Given the description of an element on the screen output the (x, y) to click on. 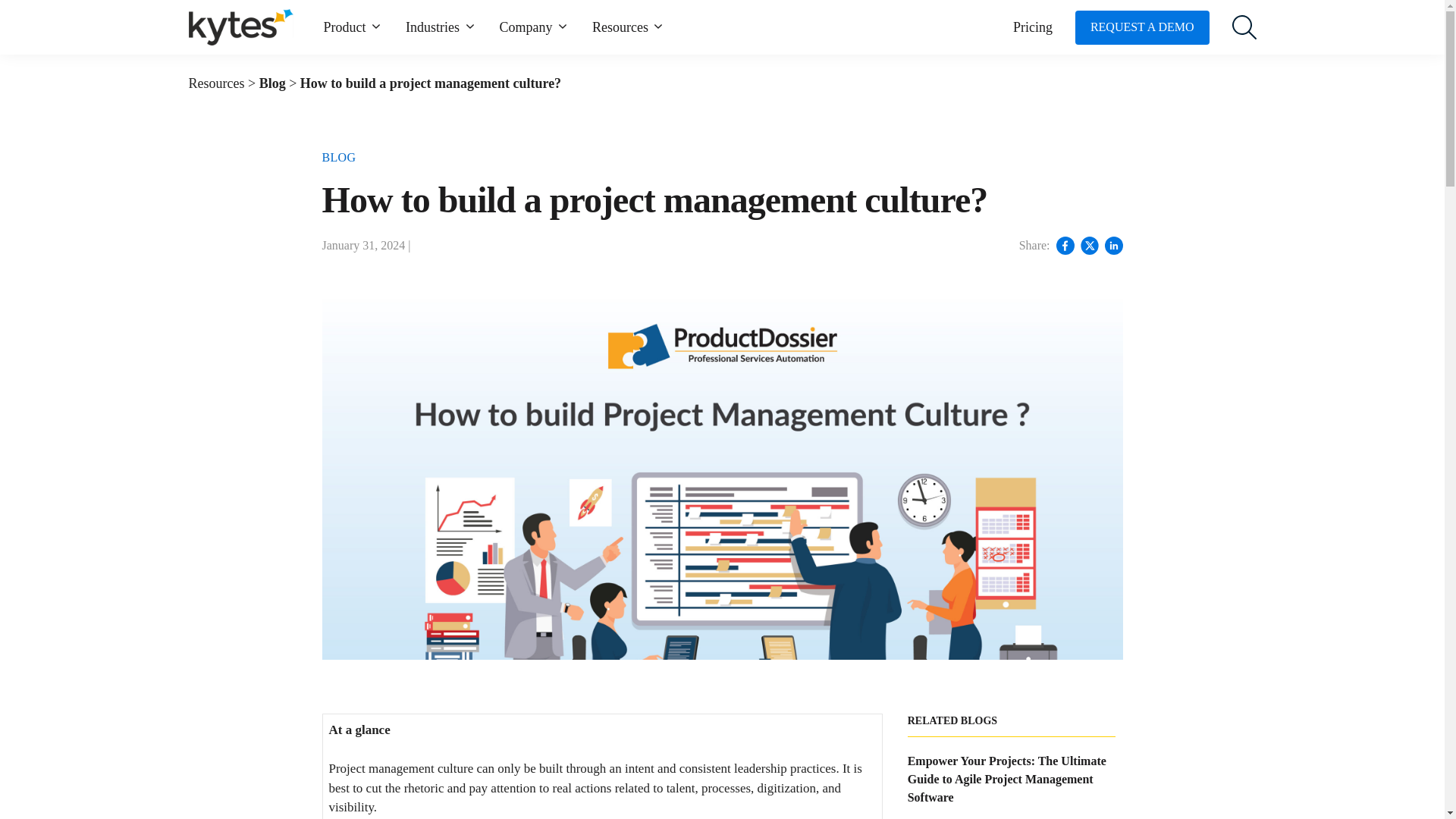
Company (534, 27)
Product (352, 27)
Resources (628, 27)
REQUEST A DEMO (1142, 27)
Pricing (1032, 26)
Industries (441, 27)
